Given the description of an element on the screen output the (x, y) to click on. 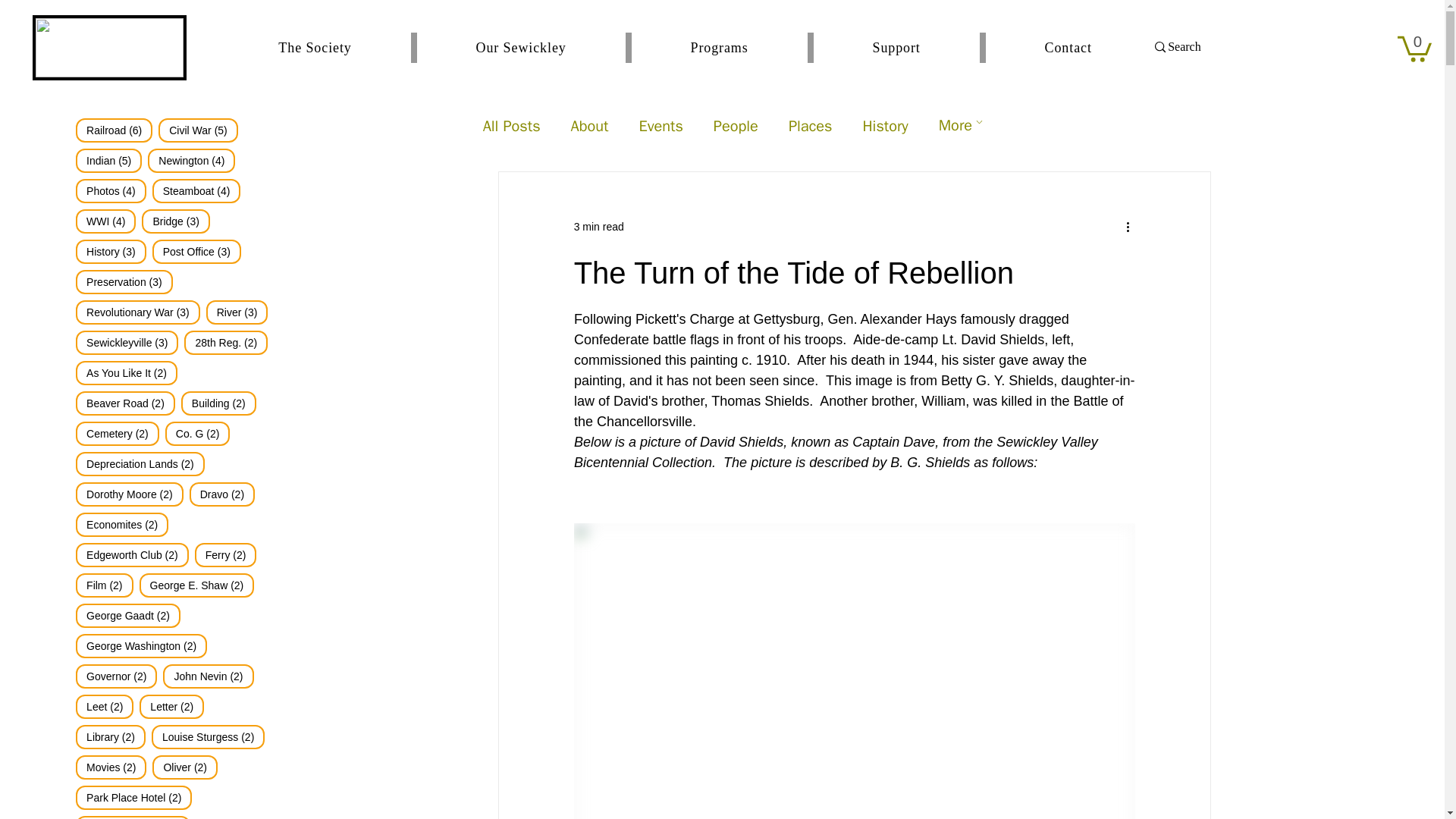
Events (684, 47)
All Posts (660, 125)
Places (511, 125)
People (810, 125)
History (735, 125)
About (884, 125)
0 (589, 125)
3 min read (1413, 47)
0 (598, 225)
